Given the description of an element on the screen output the (x, y) to click on. 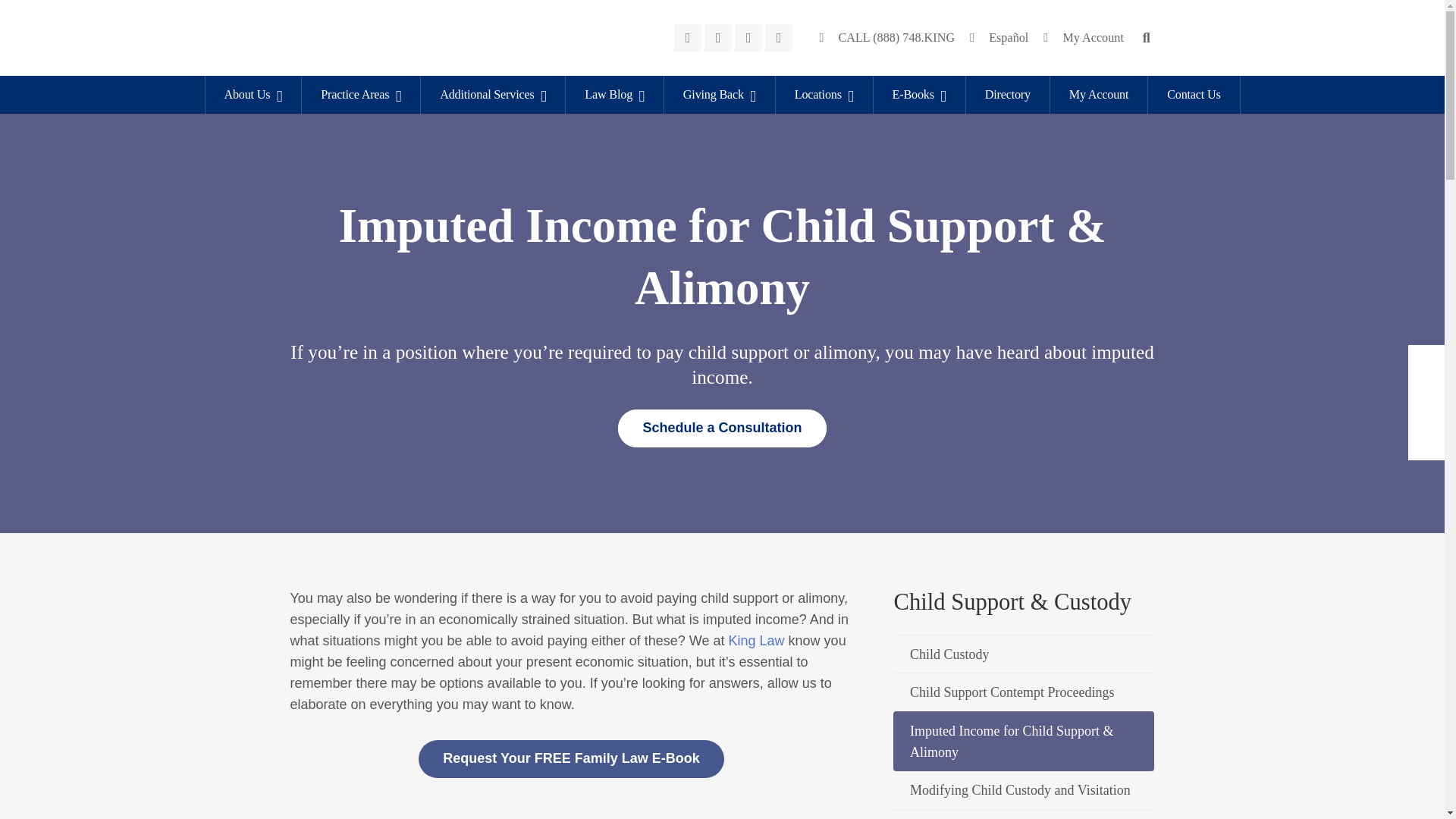
My Account (1083, 38)
King Law Logo (387, 39)
Facebook (687, 37)
Additional Services (492, 94)
Practice Areas (360, 94)
About Us (253, 94)
Twitter (718, 37)
Family Law (571, 759)
LinkedIn (748, 37)
YouTube (778, 37)
